Given the description of an element on the screen output the (x, y) to click on. 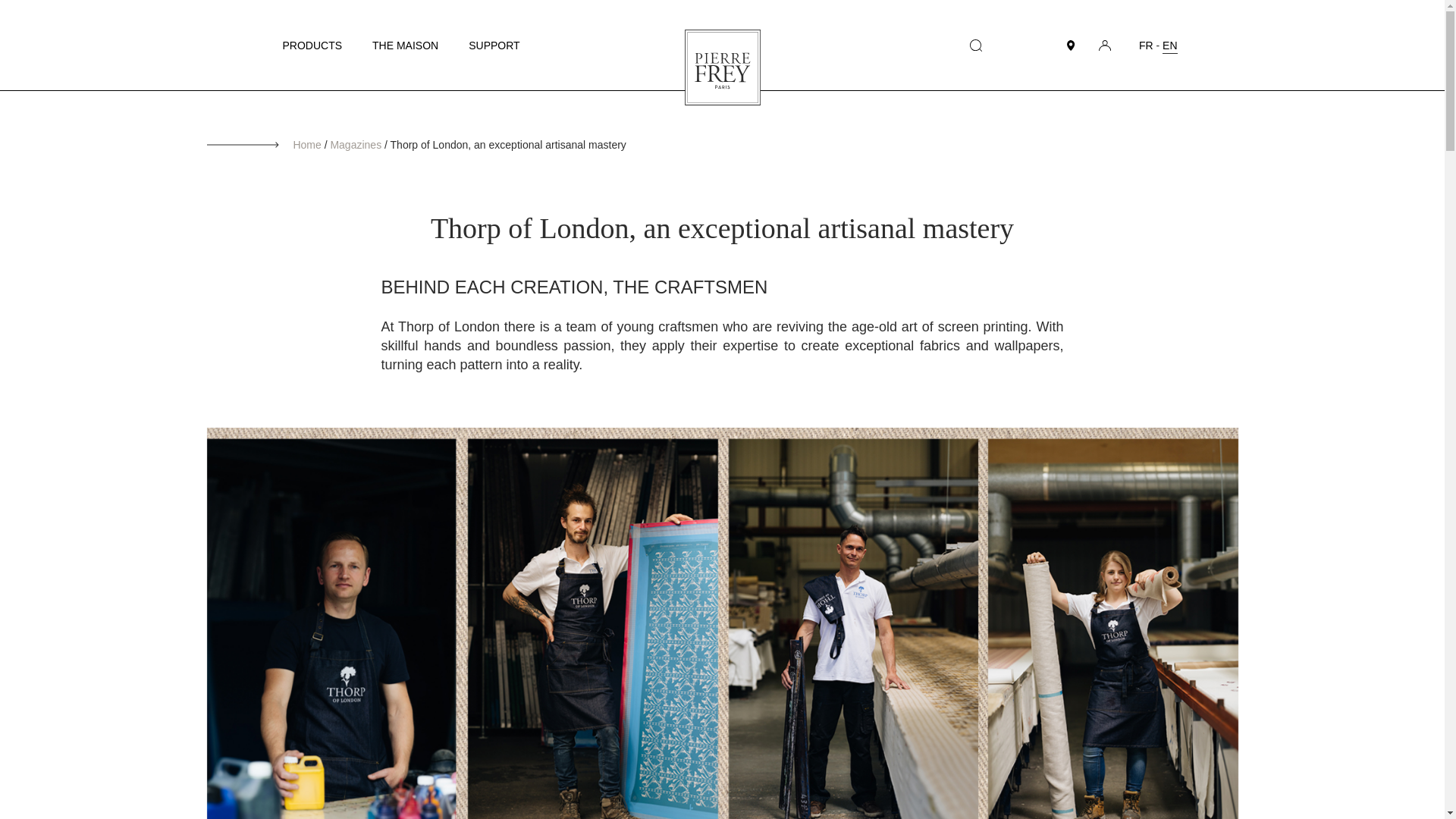
My account (1104, 44)
FIND A SHOWROOM (1070, 44)
SUPPORT (494, 45)
THE MAISON (405, 45)
PRODUCTS (312, 45)
Search (975, 44)
